Given the description of an element on the screen output the (x, y) to click on. 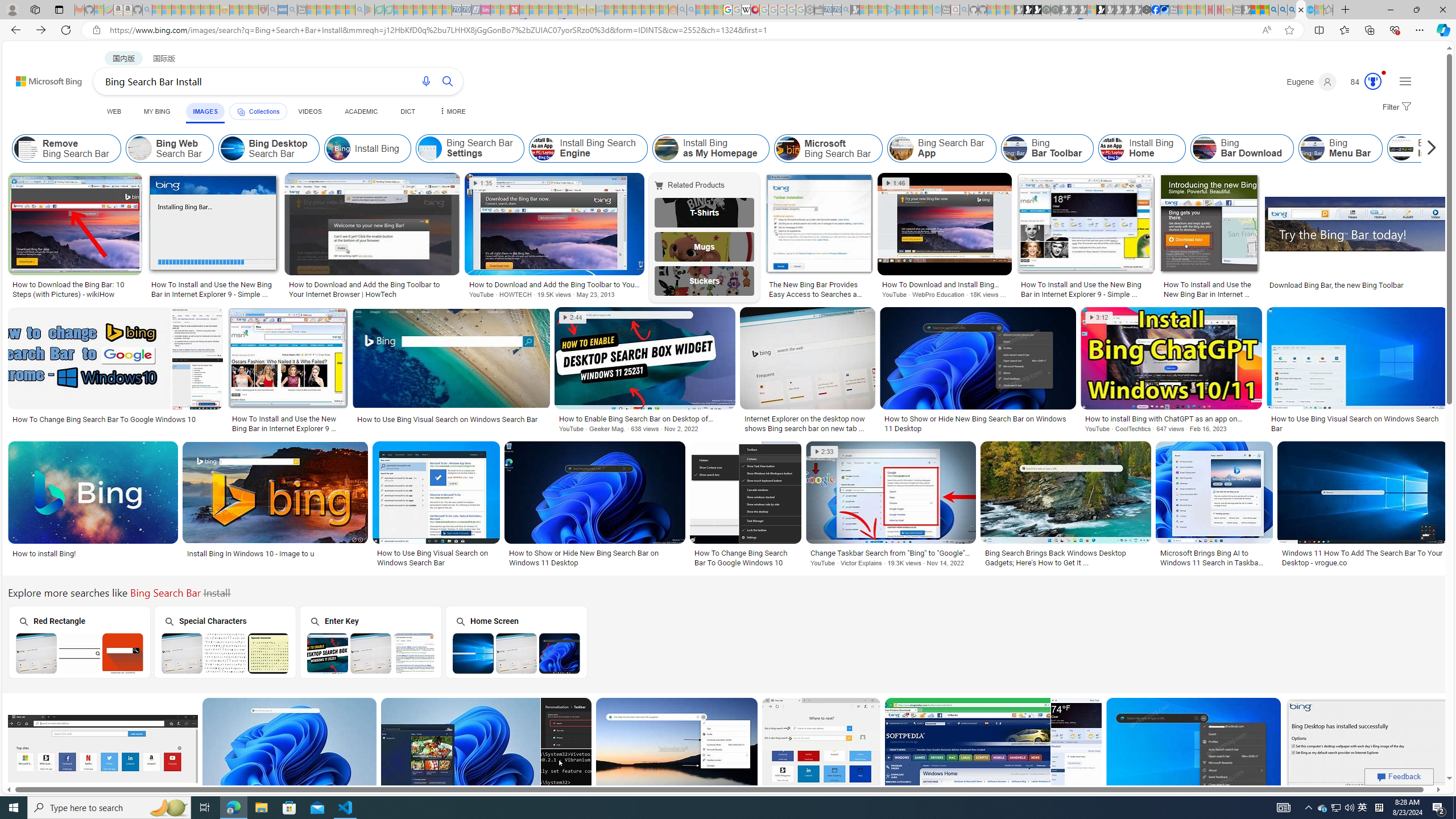
2:44 (572, 317)
Install Bing Home (1112, 148)
Nordace - Cooler Bags (1146, 9)
Bing Menu Bar (1339, 148)
